Given the description of an element on the screen output the (x, y) to click on. 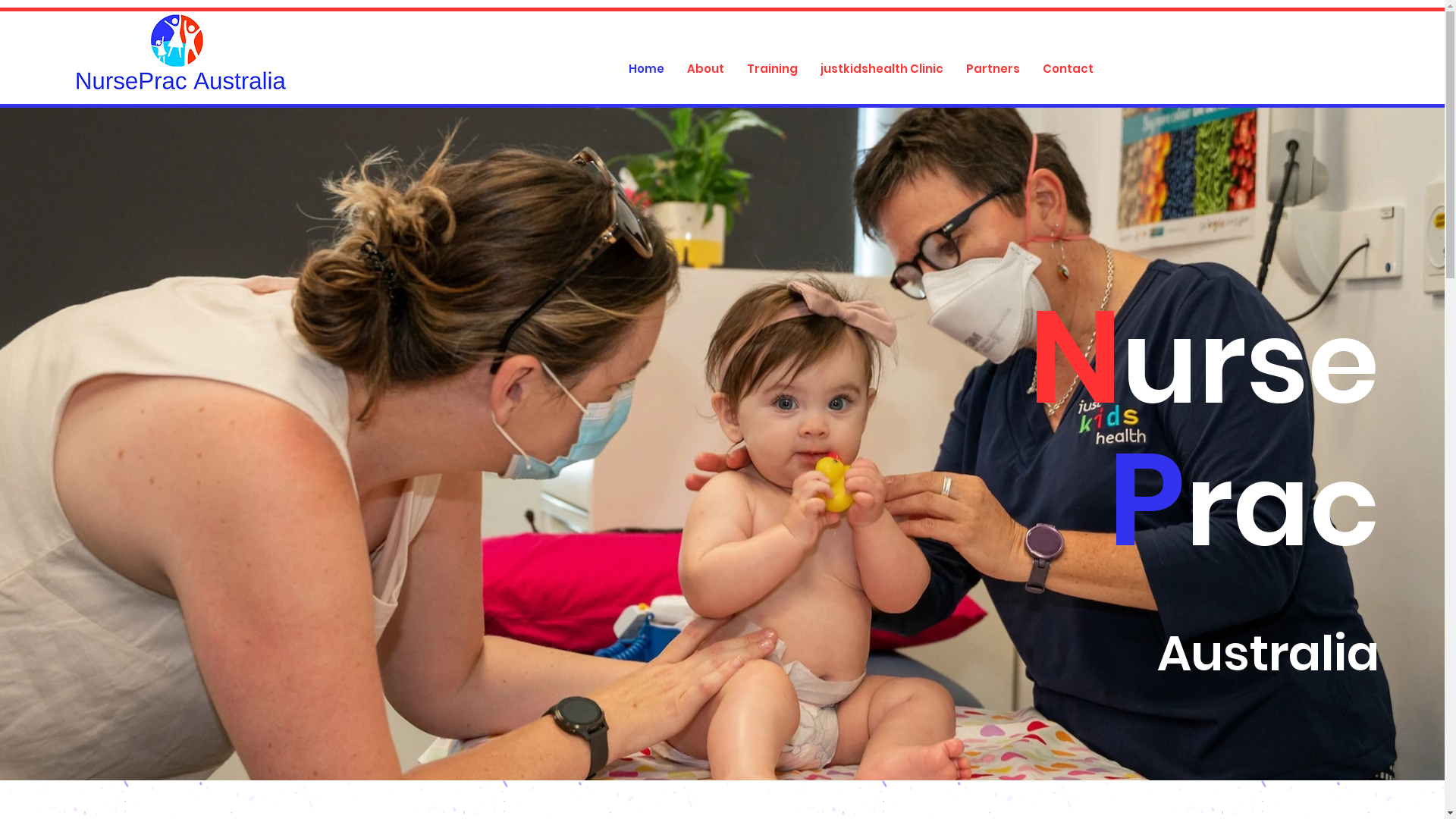
Training Element type: text (772, 68)
Partners Element type: text (991, 68)
About Element type: text (704, 68)
justkidshealth Clinic Element type: text (880, 68)
Contact Element type: text (1067, 68)
NPA Logo small image large font.png Element type: hover (179, 51)
Home Element type: text (646, 68)
